Given the description of an element on the screen output the (x, y) to click on. 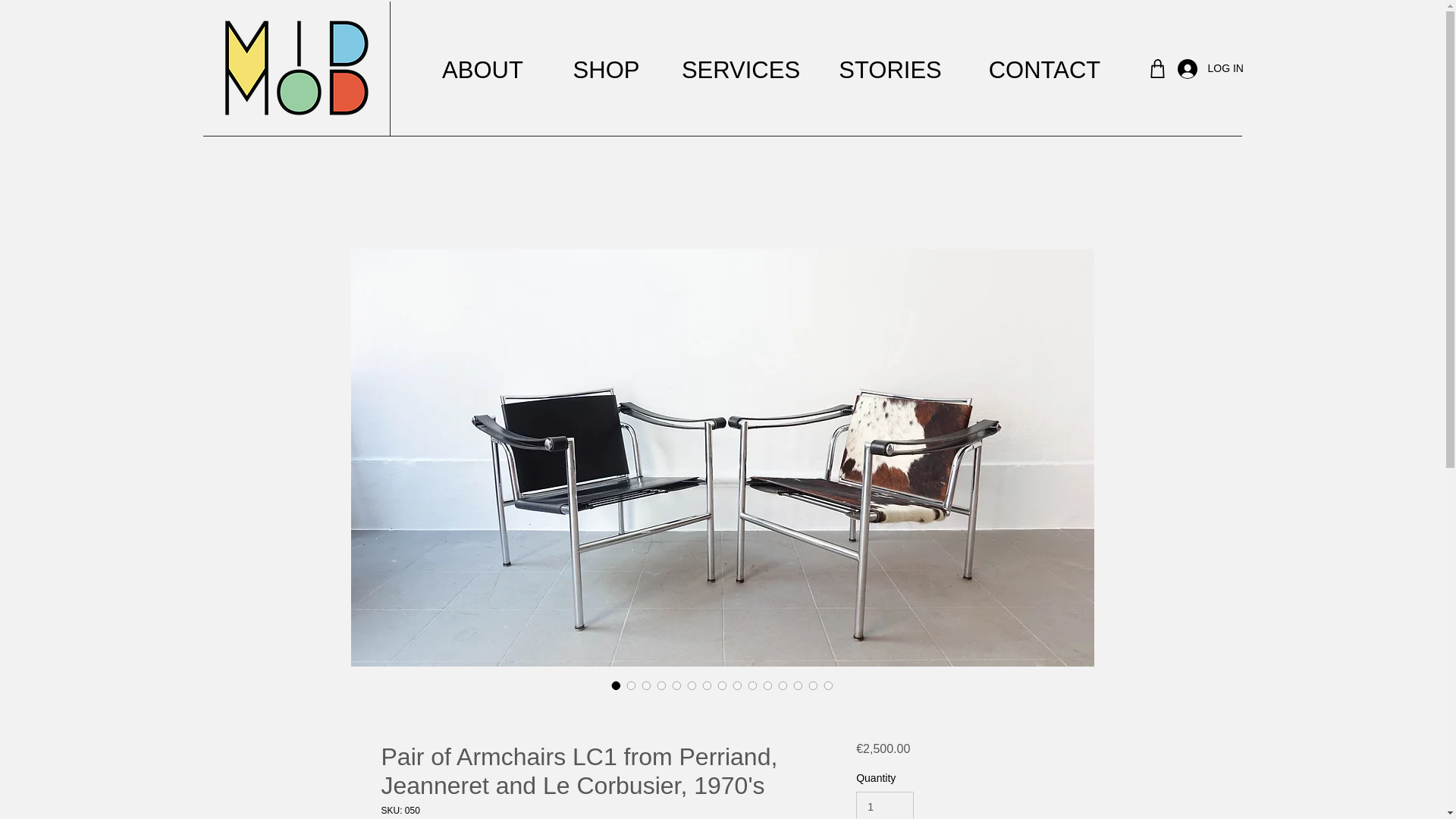
CONTACT (1042, 69)
SHOP (605, 69)
STORIES (888, 69)
ABOUT (482, 69)
1 (885, 805)
LOG IN (1194, 68)
SERVICES (739, 69)
